Given the description of an element on the screen output the (x, y) to click on. 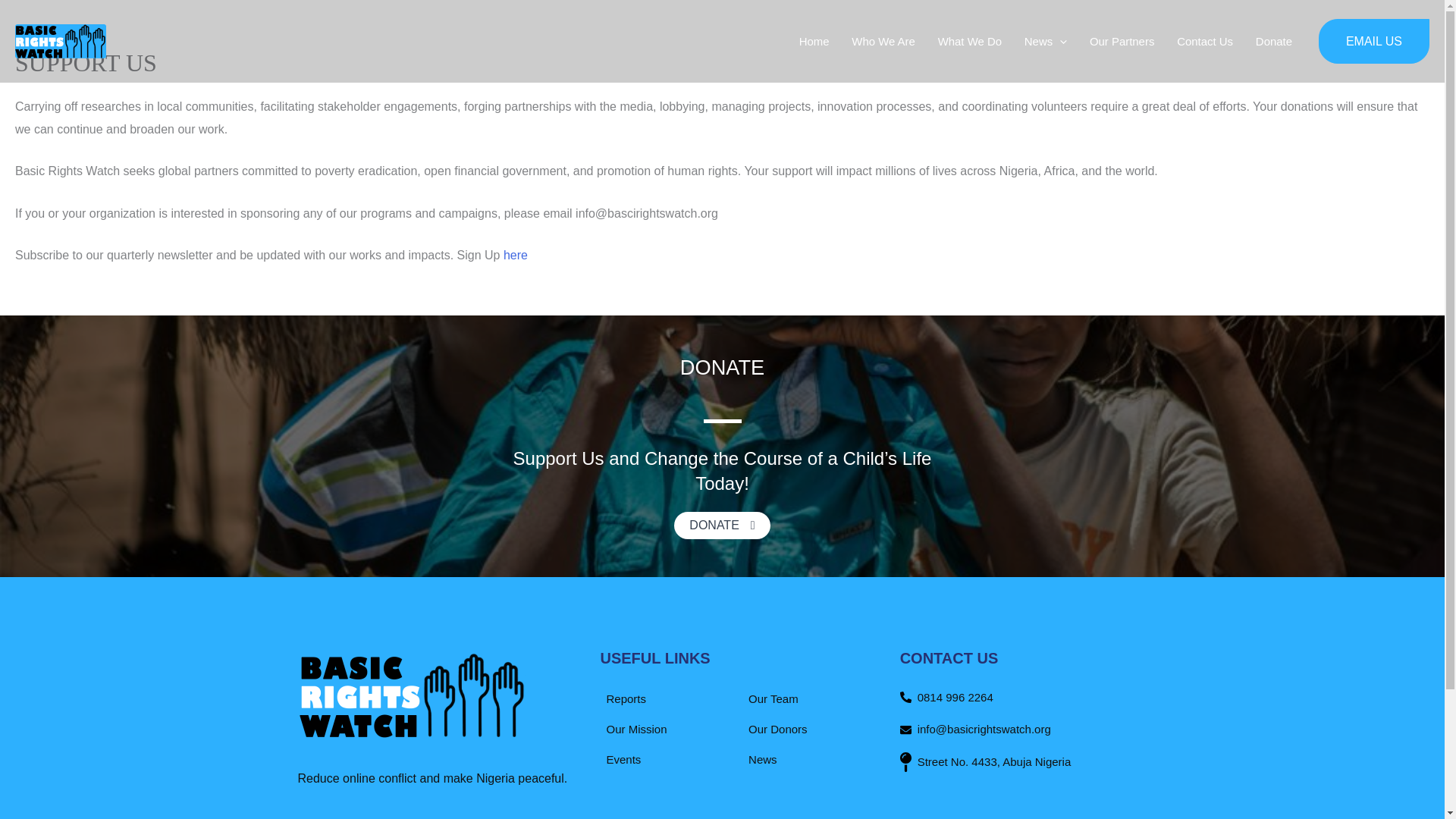
Our Donors (775, 729)
Donate (1273, 41)
DONATE (722, 524)
Who We Are (883, 41)
Home (814, 41)
Our Mission (632, 729)
Our Partners (1122, 41)
here (515, 254)
Our Team (769, 698)
Events (620, 759)
News (759, 759)
Contact Us (1205, 41)
What We Do (969, 41)
News (1045, 41)
EMAIL US (1374, 41)
